Given the description of an element on the screen output the (x, y) to click on. 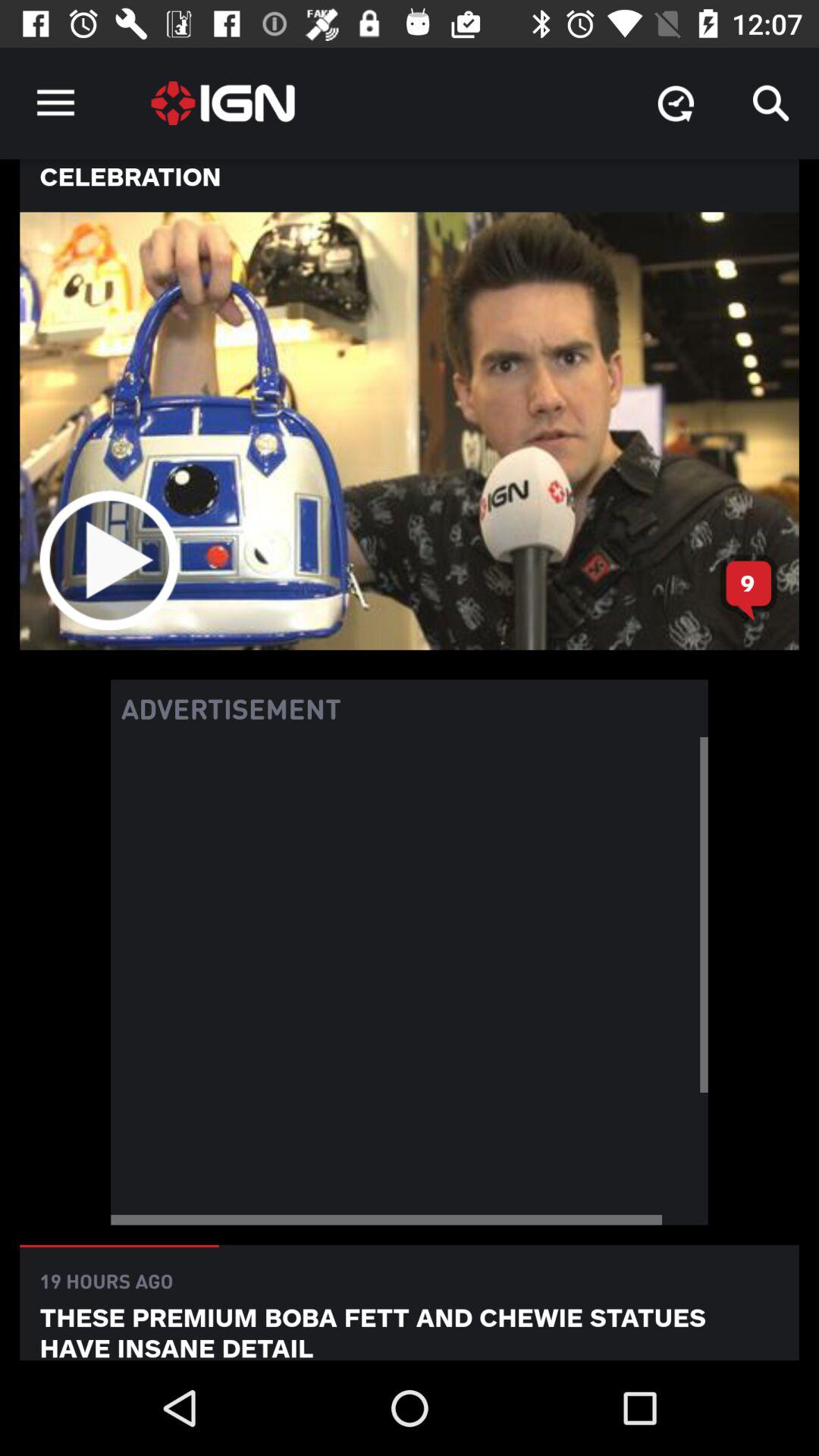
go to advertisement site (409, 981)
